Given the description of an element on the screen output the (x, y) to click on. 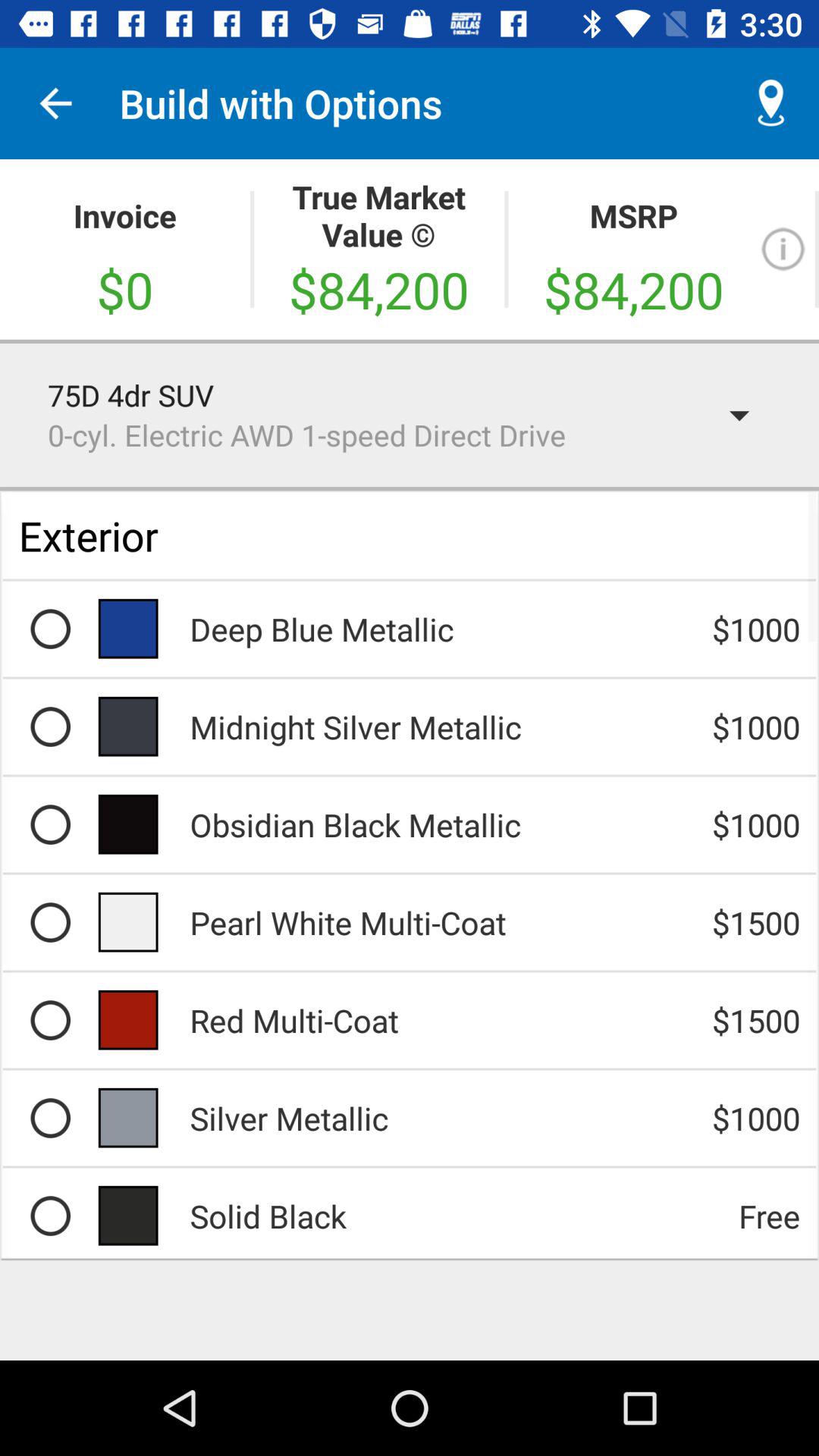
toggle color choice (50, 1020)
